Given the description of an element on the screen output the (x, y) to click on. 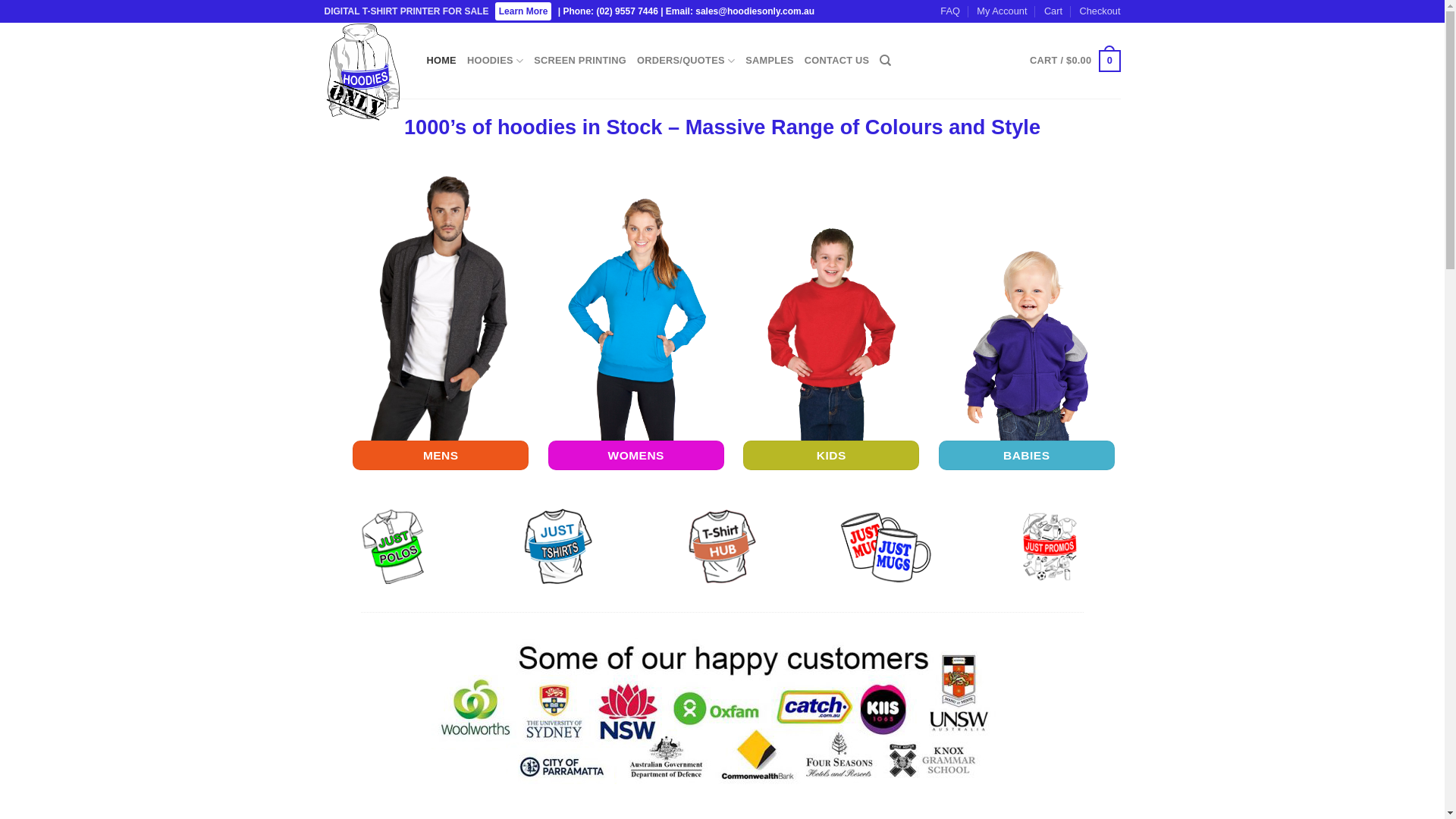
SAMPLES Element type: text (769, 60)
just-mugs Element type: hover (885, 546)
WOMENS Element type: text (636, 455)
SCREEN PRINTING Element type: text (579, 60)
HOODIES Element type: text (495, 60)
Hoodies Only Element type: hover (364, 71)
My Account Element type: text (1001, 11)
hub Element type: hover (722, 546)
Cart Element type: text (1053, 11)
DIGITAL T-SHIRT PRINTER FOR SALE Element type: text (407, 11)
polos Element type: hover (394, 546)
Learn More Element type: text (523, 11)
promos Element type: hover (1049, 546)
tshirts Element type: hover (558, 546)
MENS Element type: text (440, 455)
ORDERS/QUOTES Element type: text (685, 60)
FAQ Element type: text (950, 11)
HOME Element type: text (440, 60)
BABIES Element type: text (1026, 455)
KIDS Element type: text (831, 455)
CART / $0.00
0 Element type: text (1074, 61)
Checkout Element type: text (1099, 11)
CONTACT US Element type: text (836, 60)
